Given the description of an element on the screen output the (x, y) to click on. 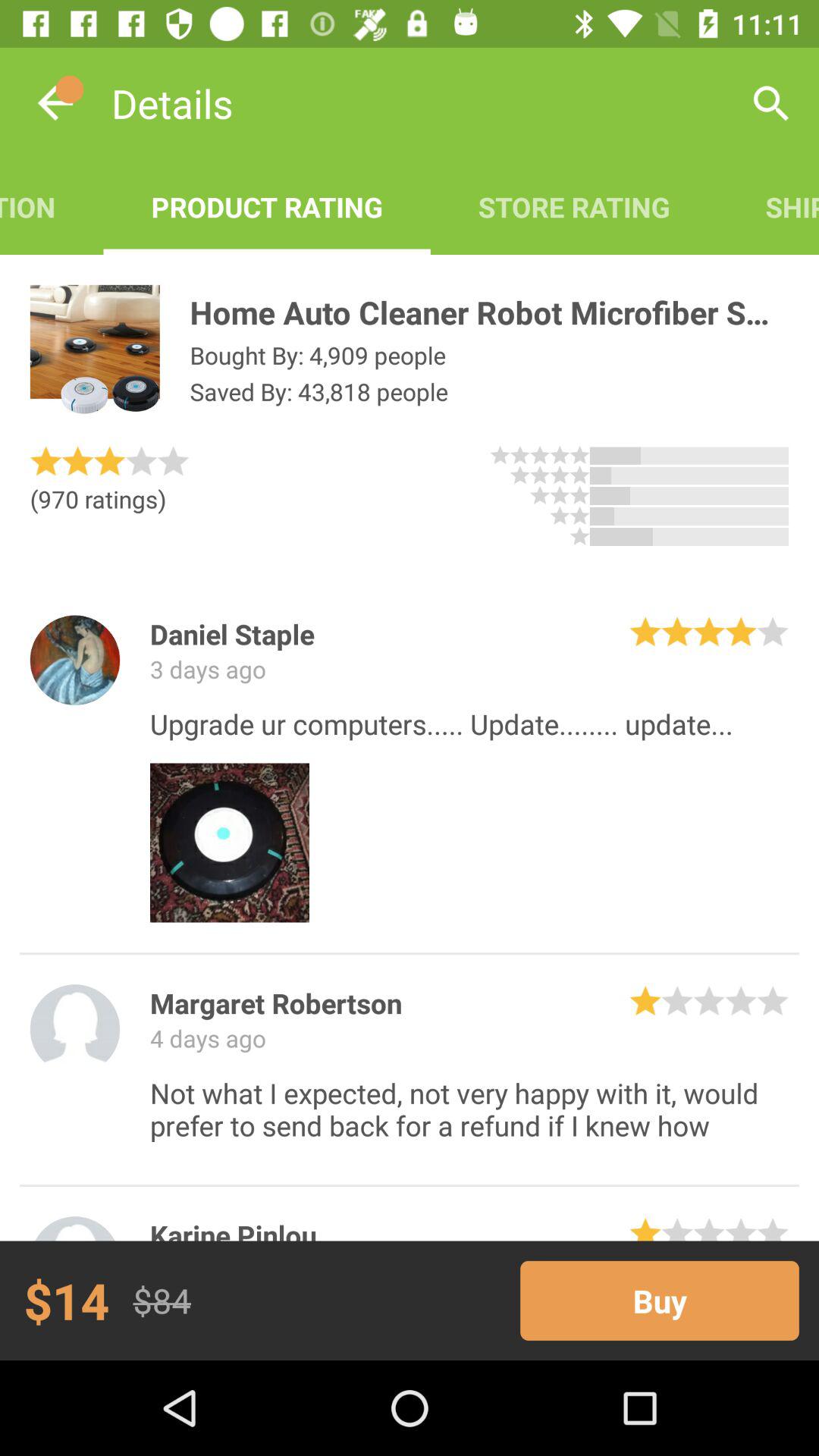
tap the app next to the store rating icon (771, 103)
